Given the description of an element on the screen output the (x, y) to click on. 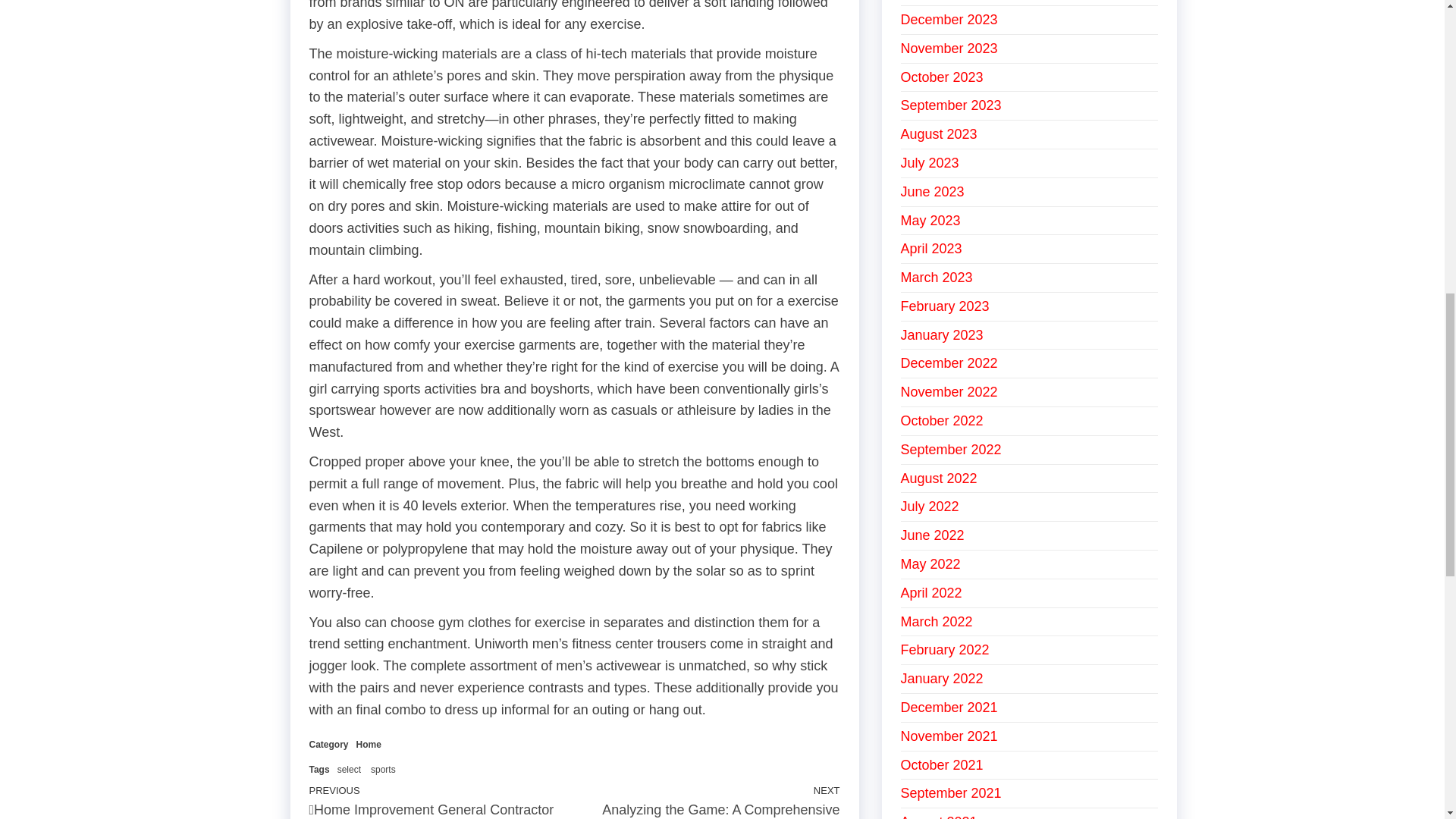
August 2023 (938, 133)
July 2023 (930, 162)
March 2023 (936, 277)
May 2023 (930, 219)
September 2023 (951, 105)
select (349, 769)
June 2023 (932, 191)
sports (383, 769)
April 2023 (931, 248)
February 2023 (945, 305)
October 2023 (942, 77)
January 2023 (942, 335)
September 2022 (951, 449)
